Given the description of an element on the screen output the (x, y) to click on. 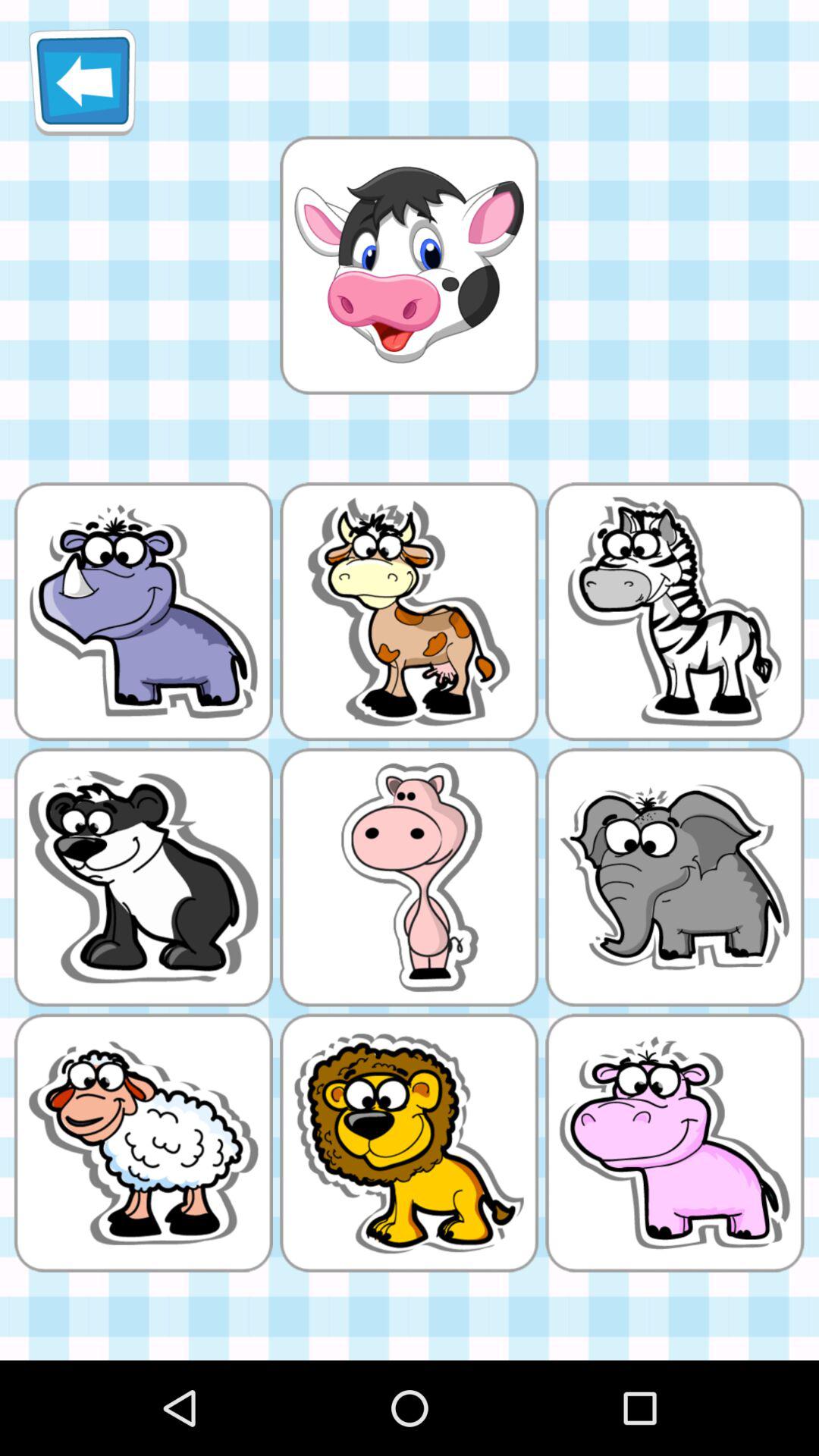
select emoji (408, 265)
